Given the description of an element on the screen output the (x, y) to click on. 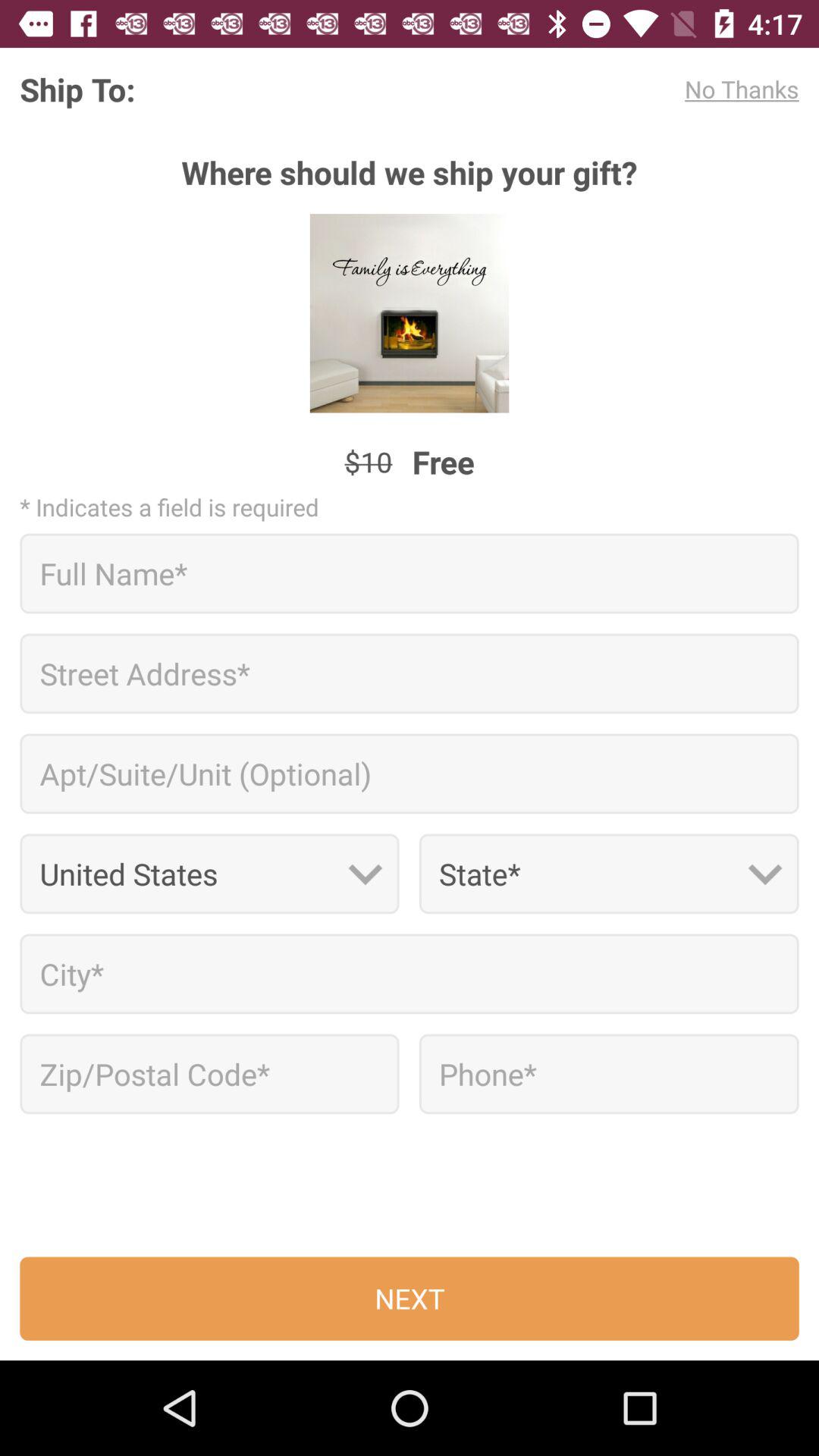
typing box (409, 973)
